Given the description of an element on the screen output the (x, y) to click on. 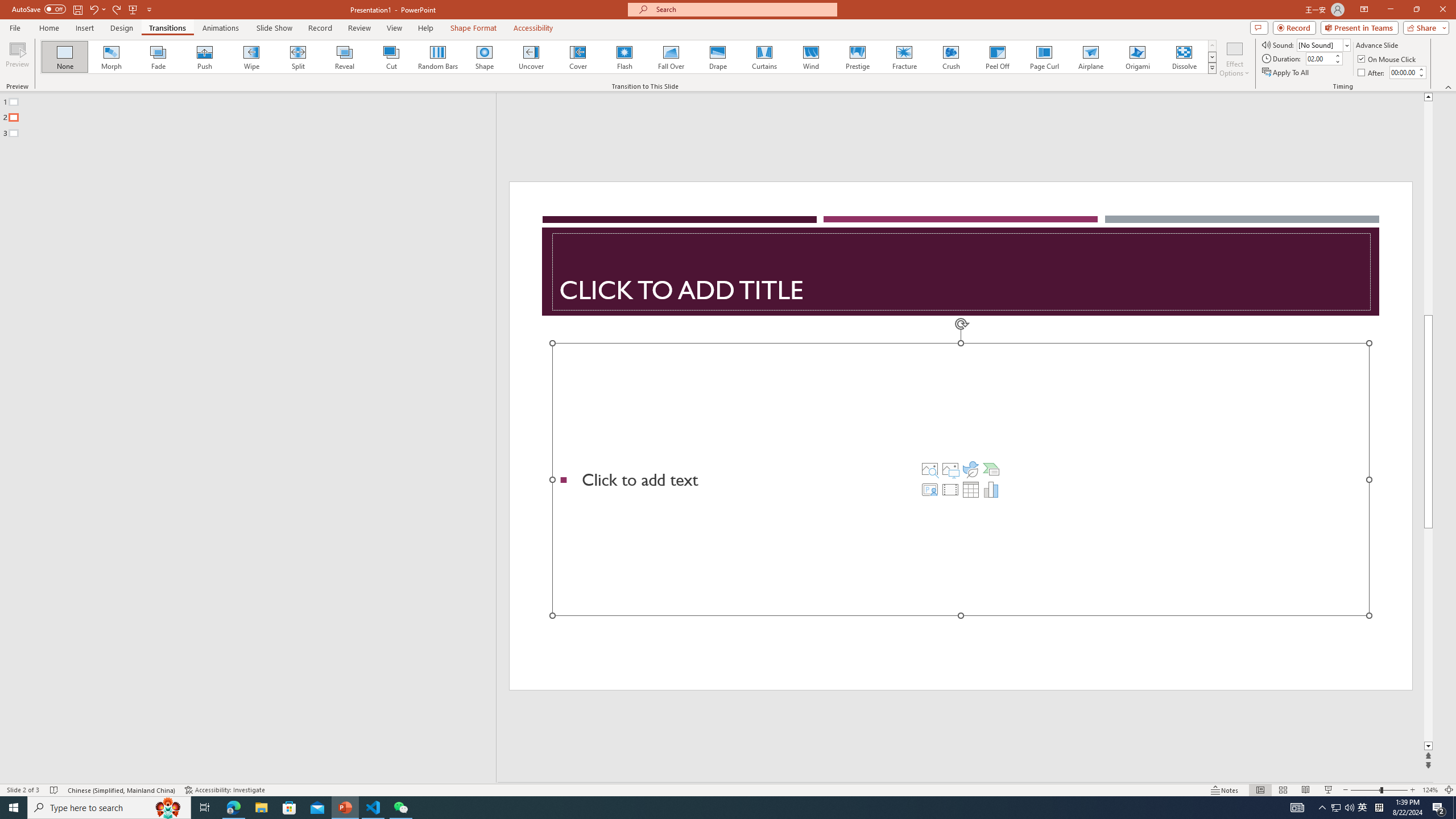
Push (205, 56)
Page Curl (1043, 56)
Origami (1136, 56)
Crush (950, 56)
Flash (624, 56)
